Given the description of an element on the screen output the (x, y) to click on. 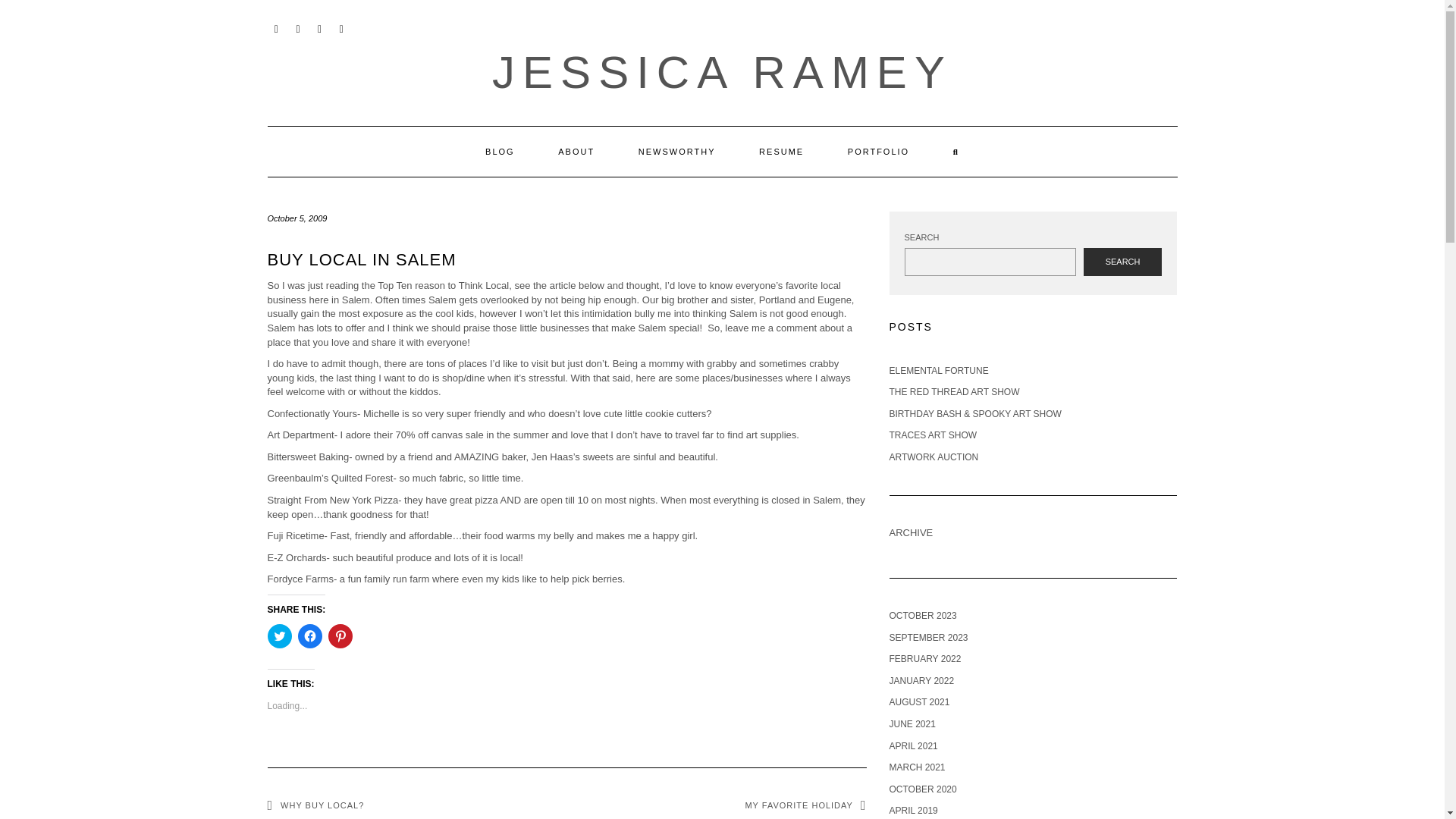
WHY BUY LOCAL? (315, 804)
PINTEREST (340, 27)
SEPTEMBER 2023 (928, 637)
BLOG (499, 151)
MY FAVORITE HOLIDAY (805, 804)
TRACES ART SHOW (932, 434)
OCTOBER 2023 (922, 615)
SEARCH (1122, 262)
THE RED THREAD ART SHOW (953, 391)
Click to share on Pinterest (339, 636)
